Given the description of an element on the screen output the (x, y) to click on. 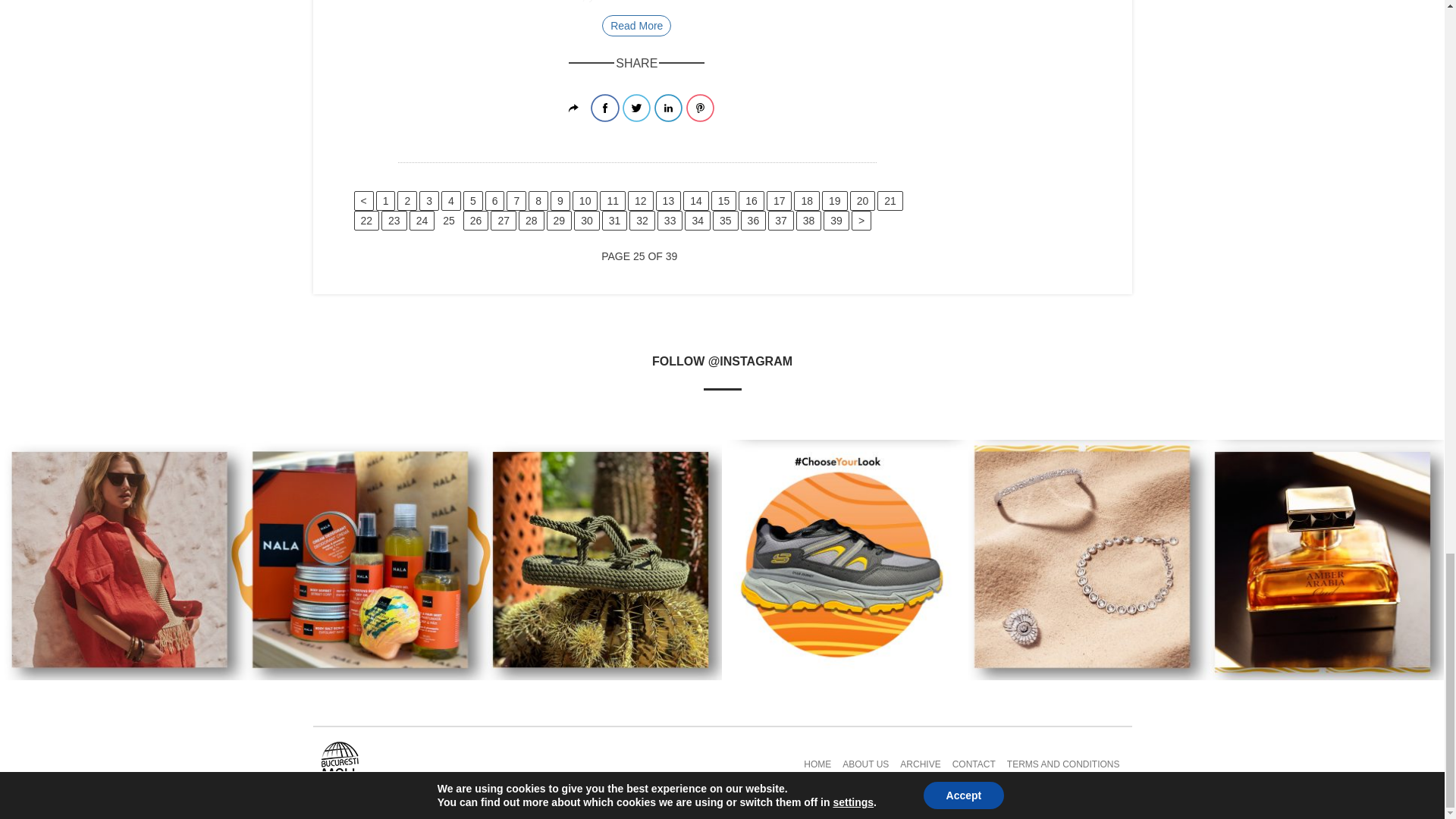
1 (385, 200)
2 (406, 200)
Read More (636, 24)
